Given the description of an element on the screen output the (x, y) to click on. 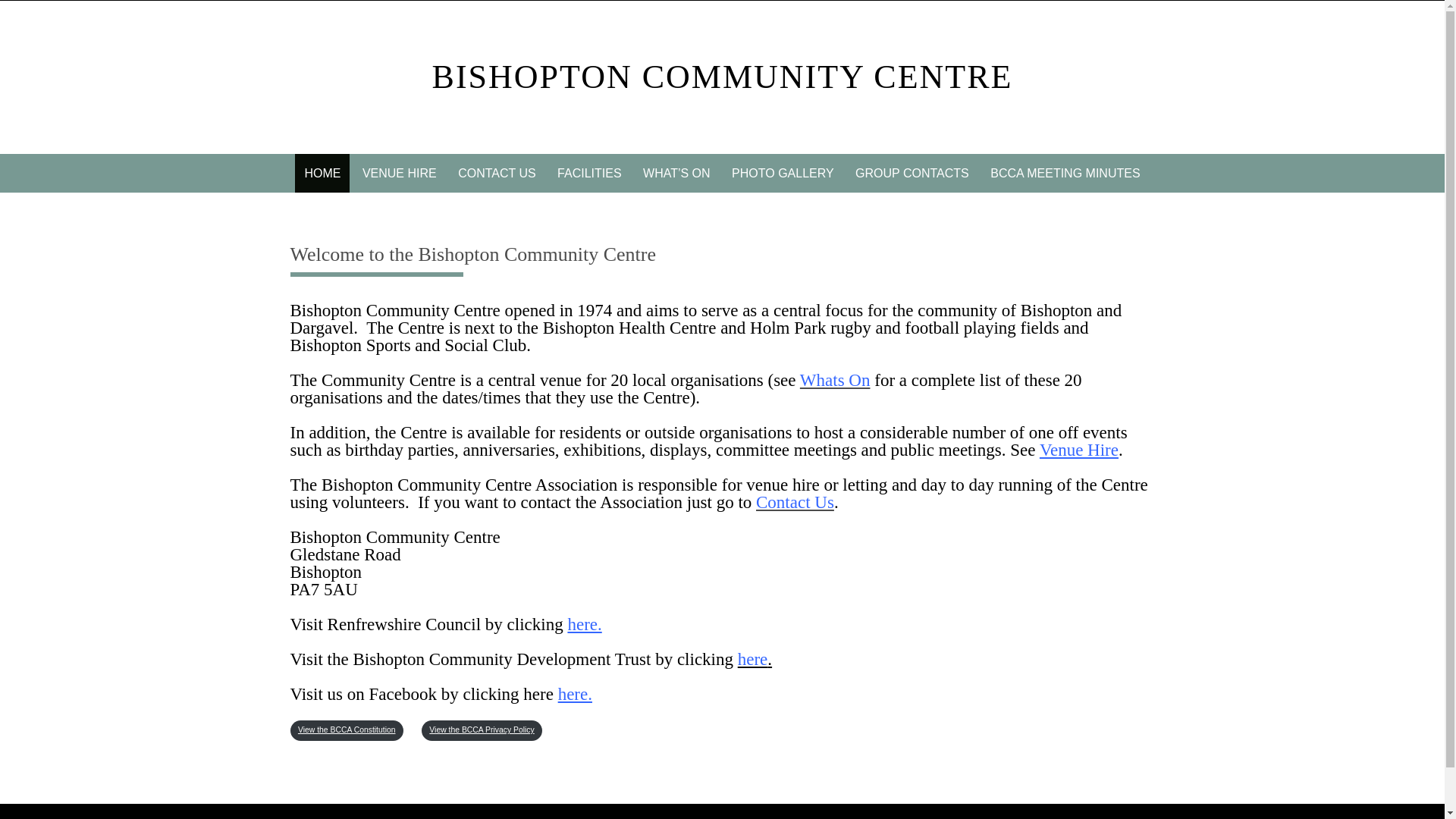
PHOTO GALLERY (782, 172)
GROUP CONTACTS (911, 172)
FACILITIES (589, 172)
Bishopton Community Centre  (722, 76)
Contact Us (794, 502)
Whats On (834, 380)
View the BCCA Privacy Policy (481, 730)
VENUE HIRE (399, 172)
here. (574, 693)
BCCA MEETING MINUTES (1064, 172)
Venue Hire (1078, 449)
here. (584, 624)
HOME (322, 172)
CONTACT US (496, 172)
